Given the description of an element on the screen output the (x, y) to click on. 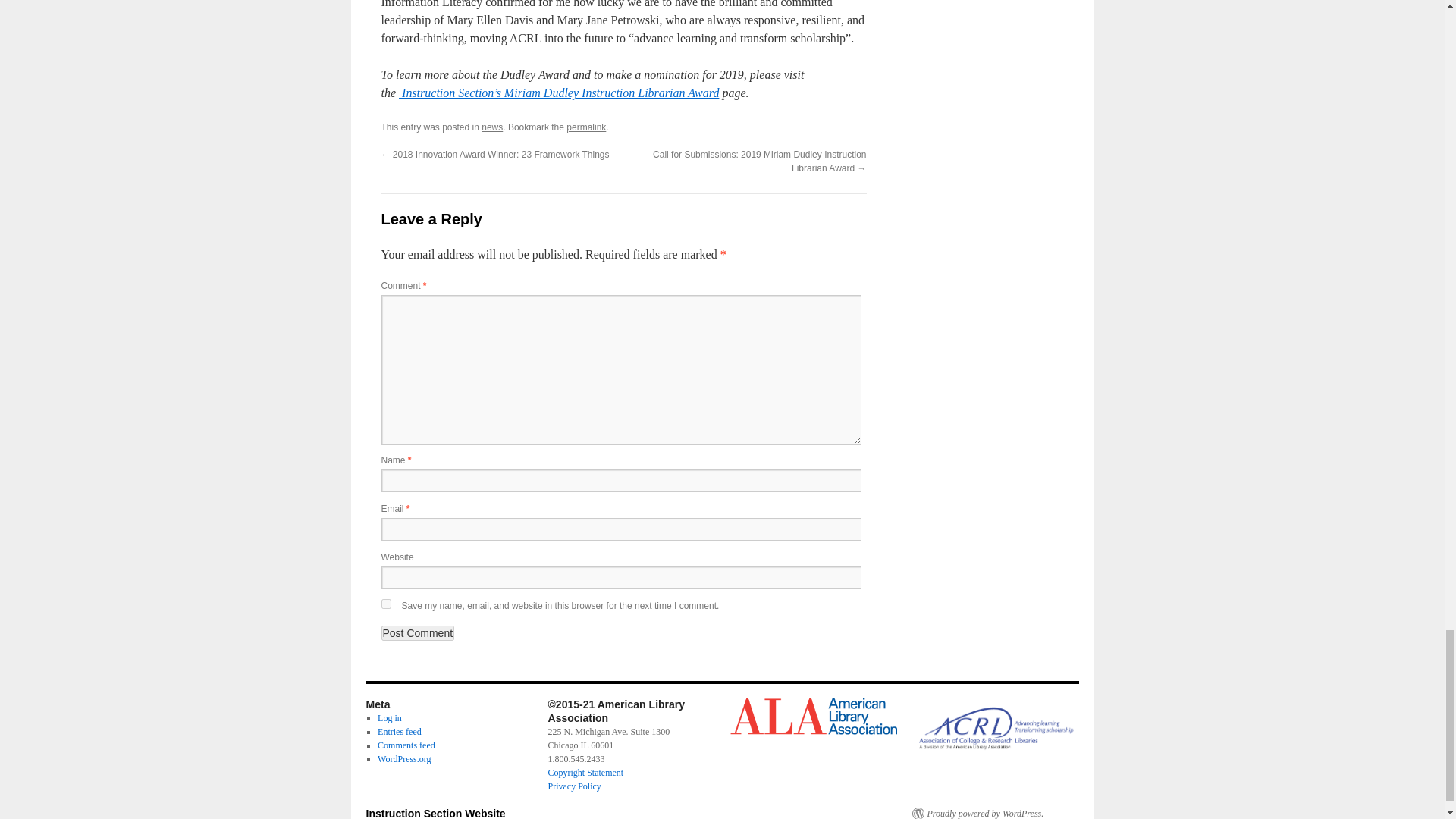
permalink (585, 127)
news (491, 127)
yes (385, 603)
Post Comment (417, 632)
Post Comment (417, 632)
